Given the description of an element on the screen output the (x, y) to click on. 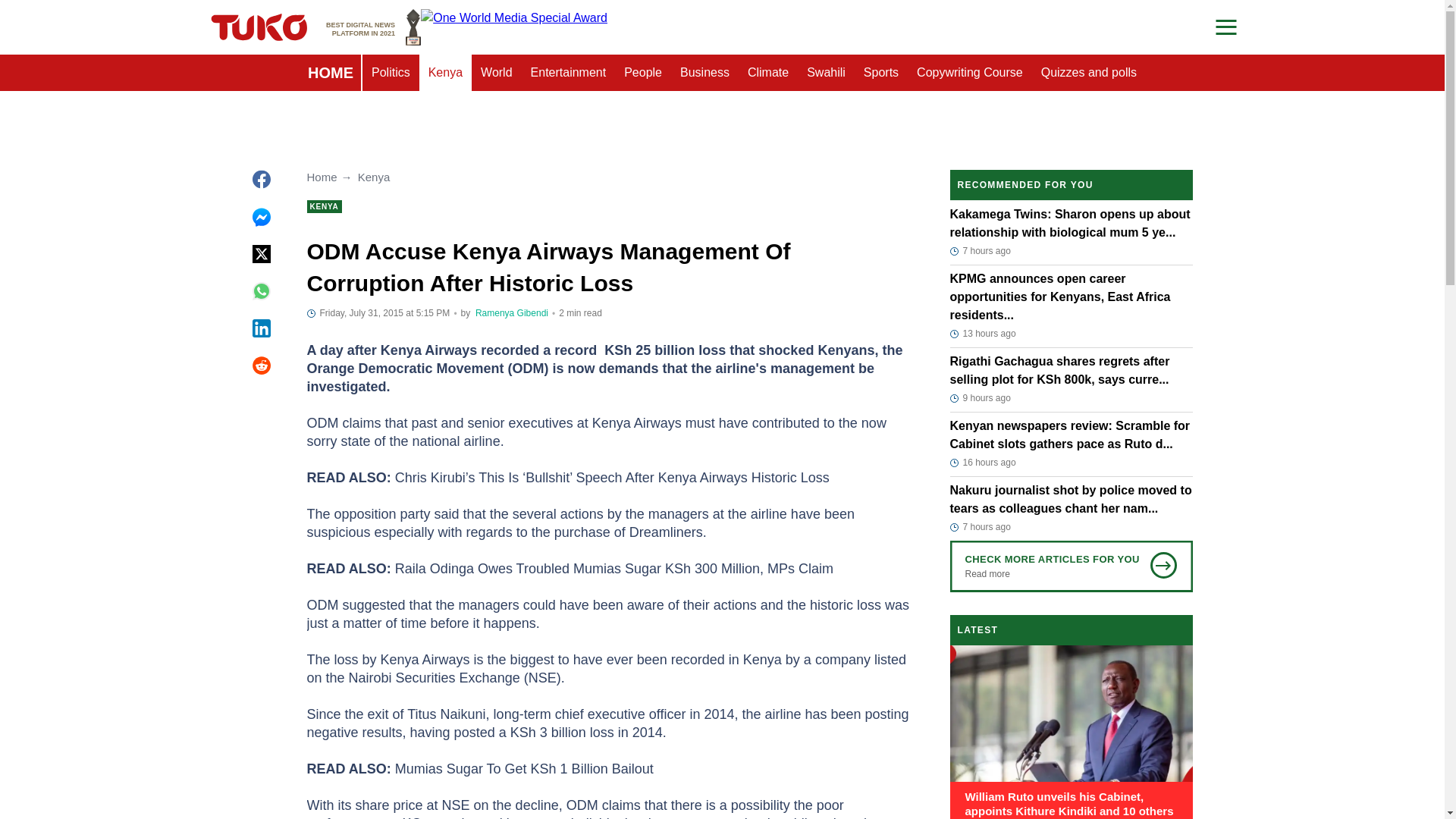
Quizzes and polls (1088, 72)
Sports (880, 72)
Kenya (445, 72)
World (496, 72)
Politics (390, 72)
Business (704, 72)
Copywriting Course (969, 72)
Author page (512, 312)
Climate (767, 72)
HOME (373, 27)
Swahili (330, 72)
People (825, 72)
Entertainment (642, 72)
